Given the description of an element on the screen output the (x, y) to click on. 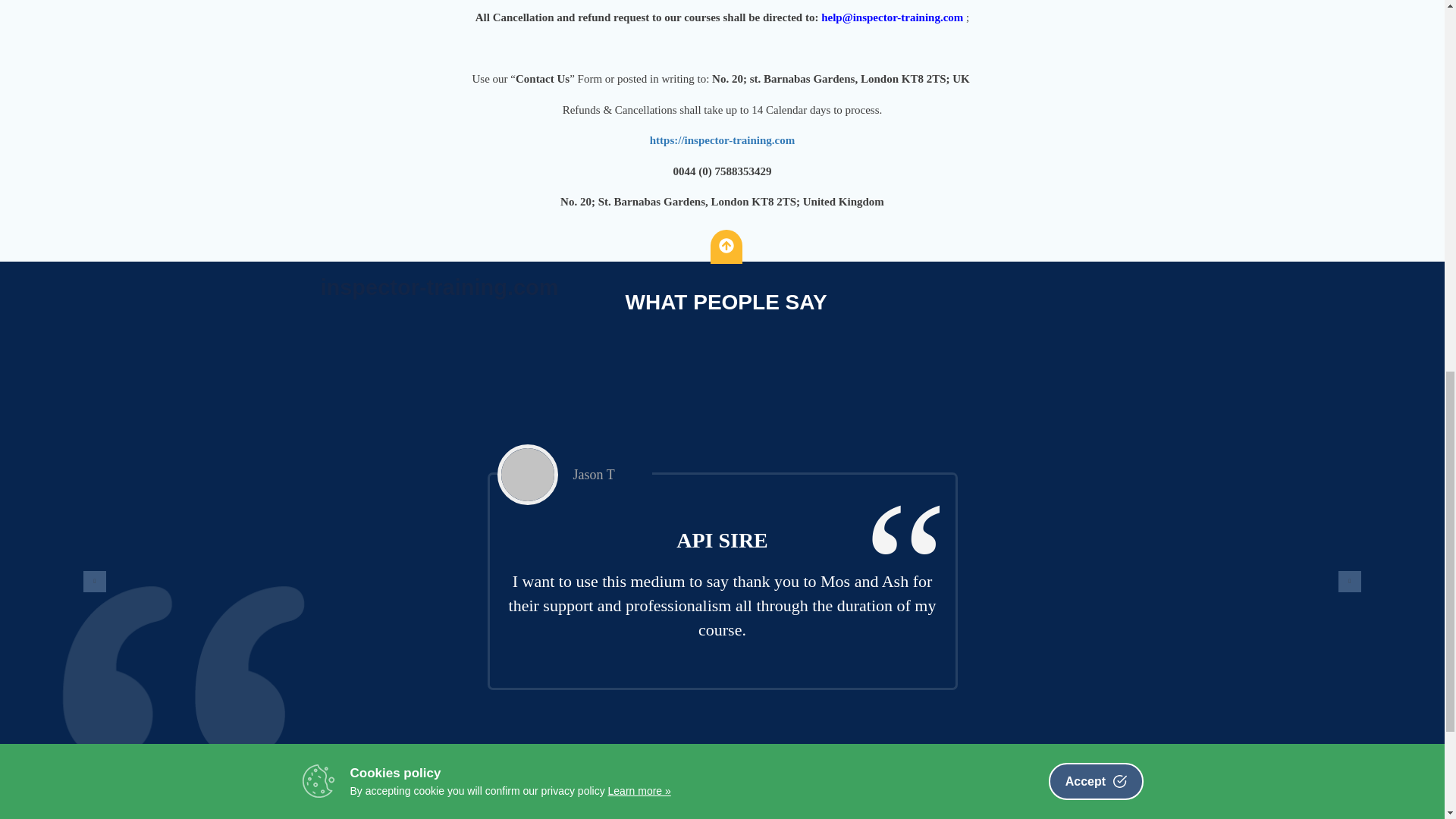
JT (527, 474)
